Given the description of an element on the screen output the (x, y) to click on. 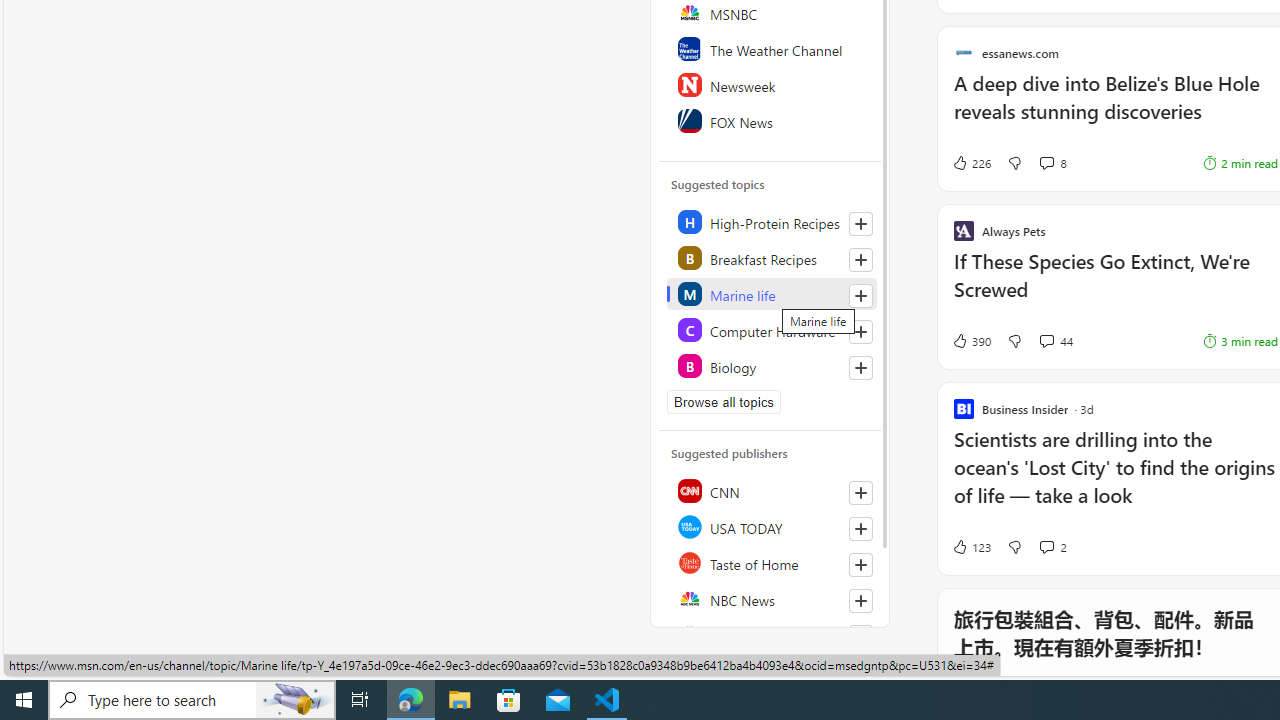
View comments 8 Comment (1046, 162)
If These Species Go Extinct, We're Screwed (1115, 285)
CNN (771, 490)
The Weather Channel (771, 48)
390 Like (970, 340)
View comments 44 Comment (1055, 340)
Follow this source (860, 636)
Newsweek (771, 84)
226 Like (970, 162)
View comments 2 Comment (1052, 546)
View comments 2 Comment (1046, 547)
